Given the description of an element on the screen output the (x, y) to click on. 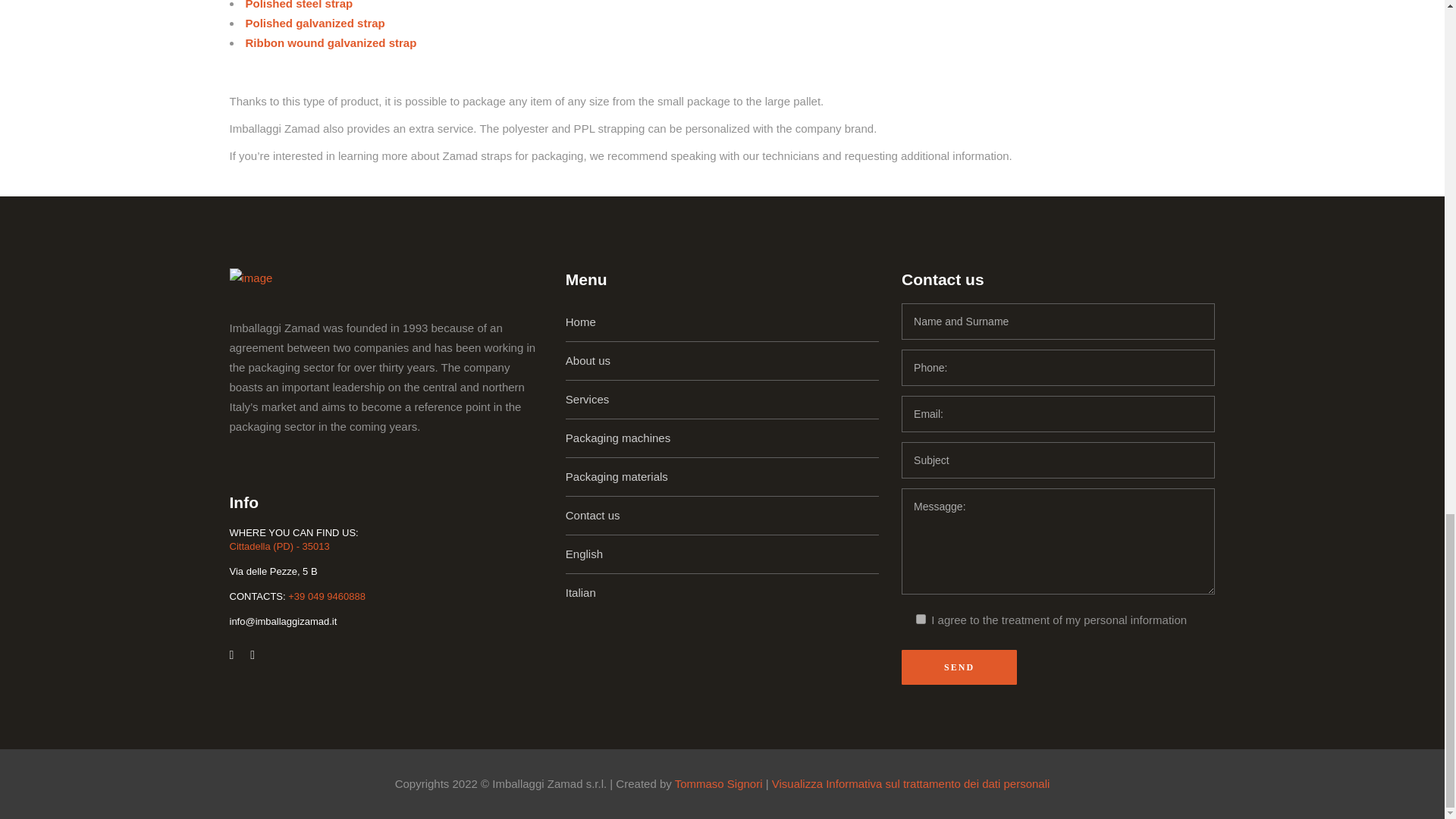
1 (920, 619)
SEND (958, 667)
English (584, 553)
Italian (580, 592)
